Given the description of an element on the screen output the (x, y) to click on. 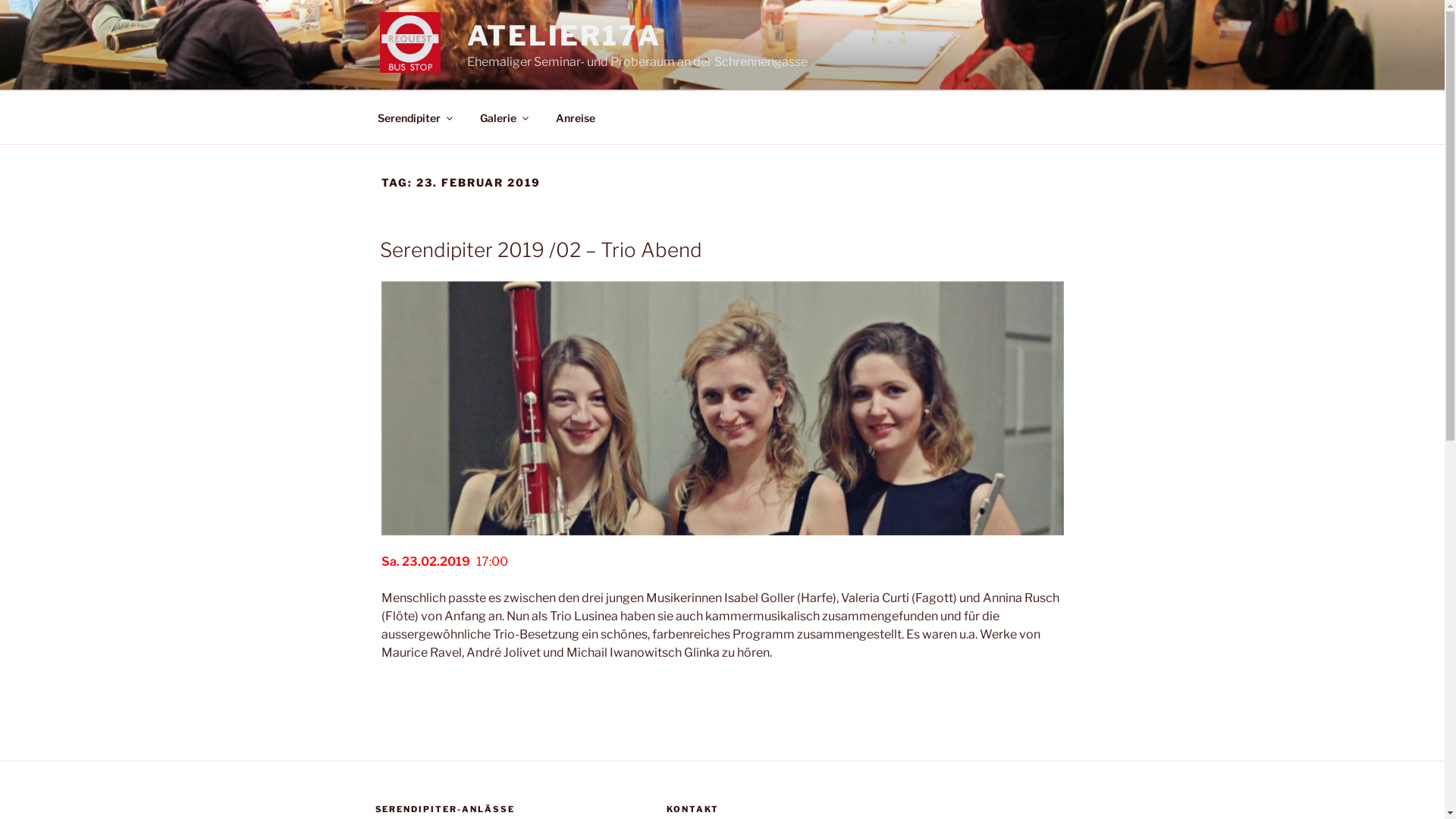
Anreise Element type: text (575, 116)
Galerie Element type: text (503, 116)
Serendipiter Element type: text (414, 116)
ATELIER17A Element type: text (564, 35)
